Given the description of an element on the screen output the (x, y) to click on. 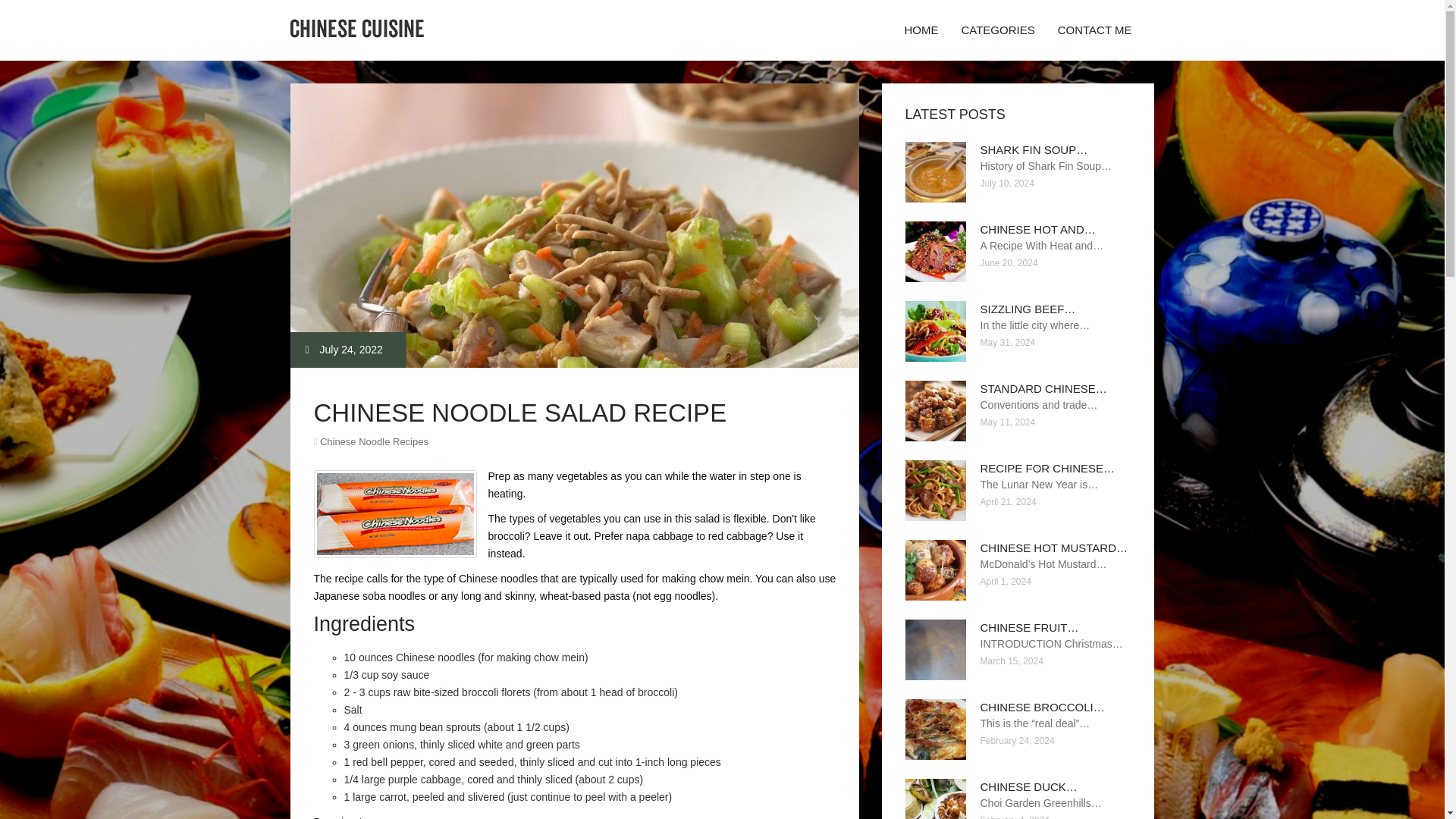
CATEGORIES (997, 30)
Chinese Noodle Recipes (374, 441)
CONTACT ME (1094, 30)
HOME (920, 30)
